Given the description of an element on the screen output the (x, y) to click on. 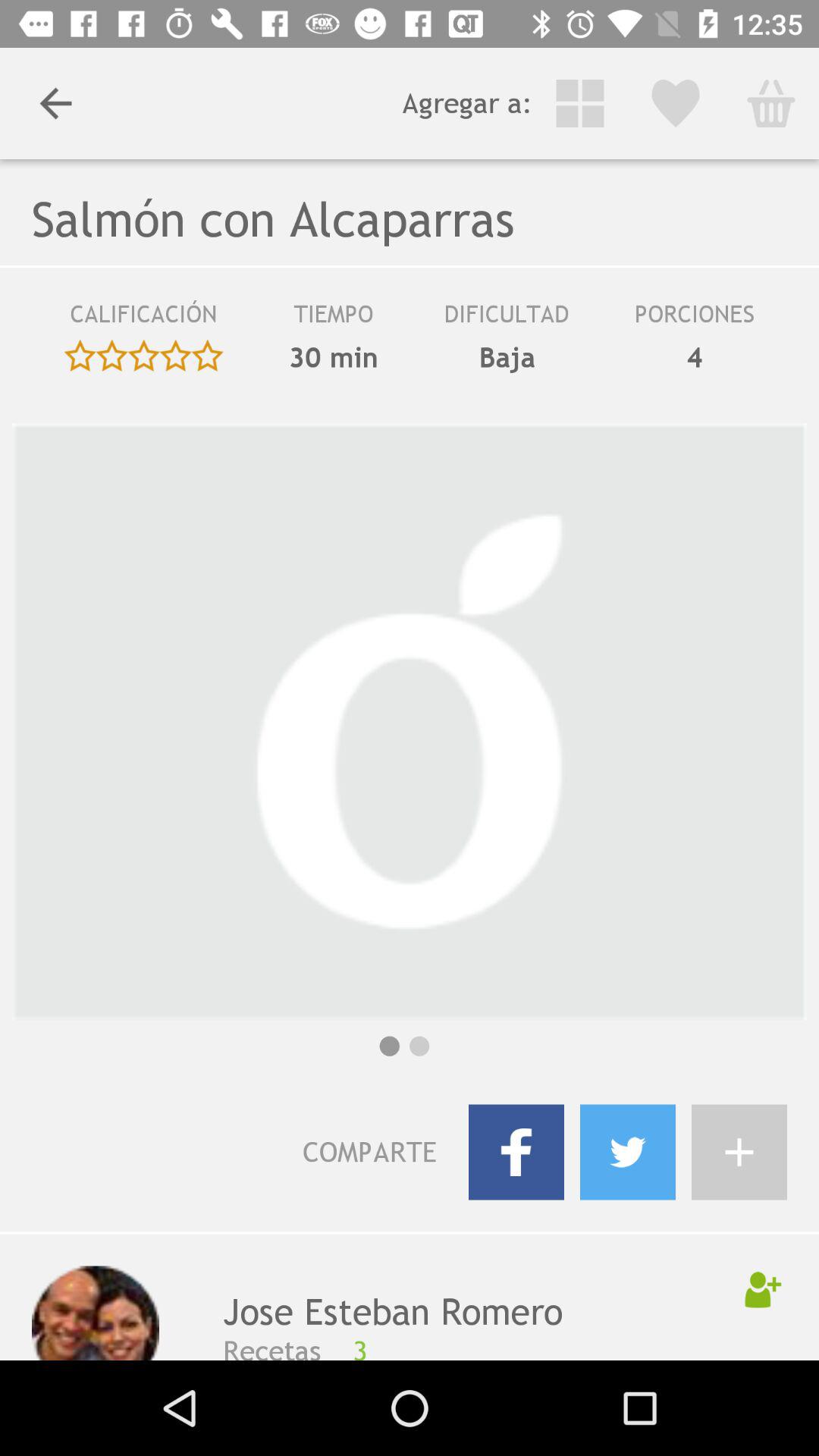
follow account (763, 1289)
